Given the description of an element on the screen output the (x, y) to click on. 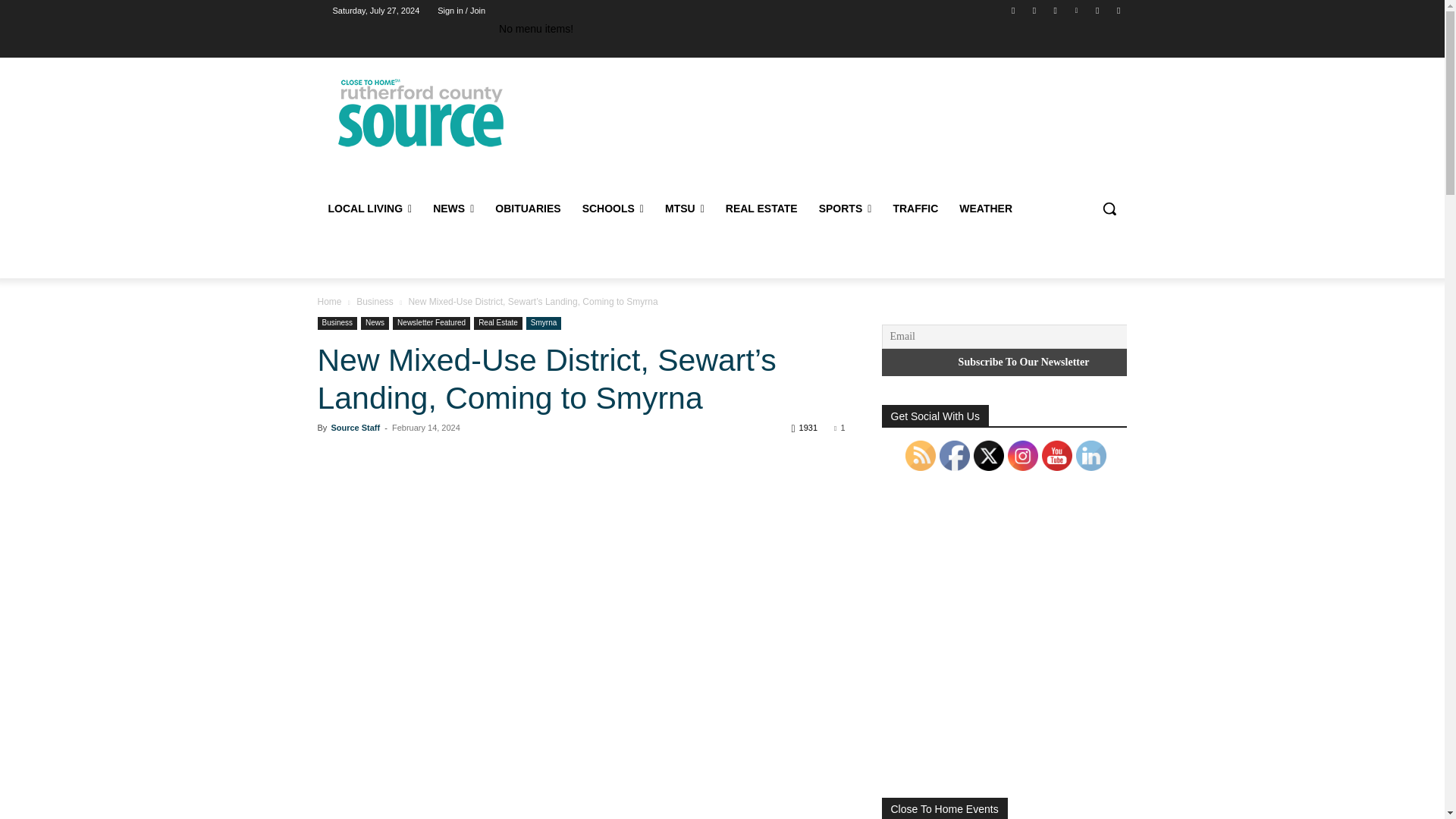
Subscribe To Our Newsletter (1023, 361)
Linkedin (1075, 9)
Facebook (1013, 9)
Flipboard (1034, 9)
Youtube (1117, 9)
Twitter (1097, 9)
Instagram (1055, 9)
